Given the description of an element on the screen output the (x, y) to click on. 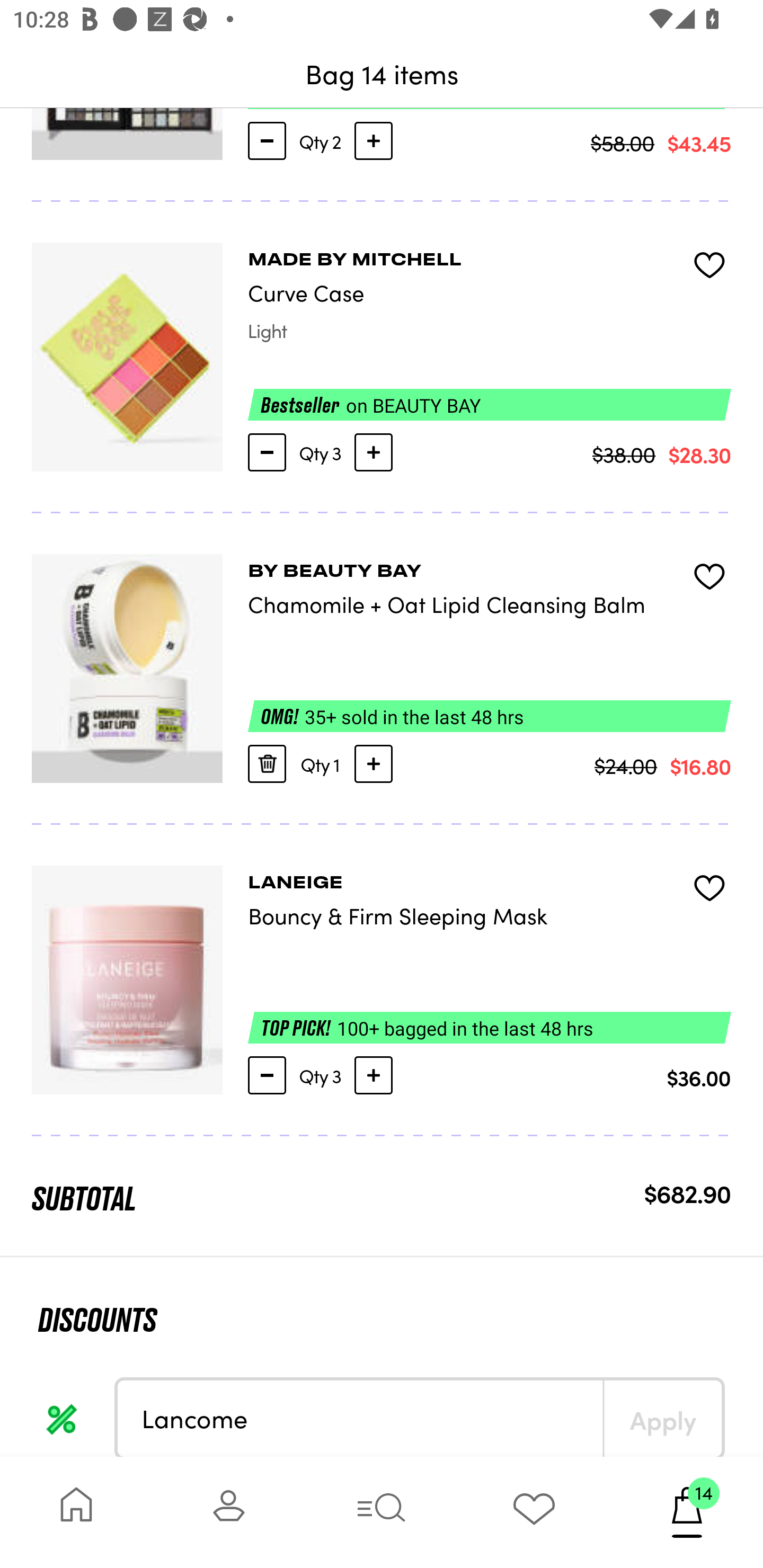
Lancome (360, 1417)
Apply (661, 1417)
14 (686, 1512)
